Given the description of an element on the screen output the (x, y) to click on. 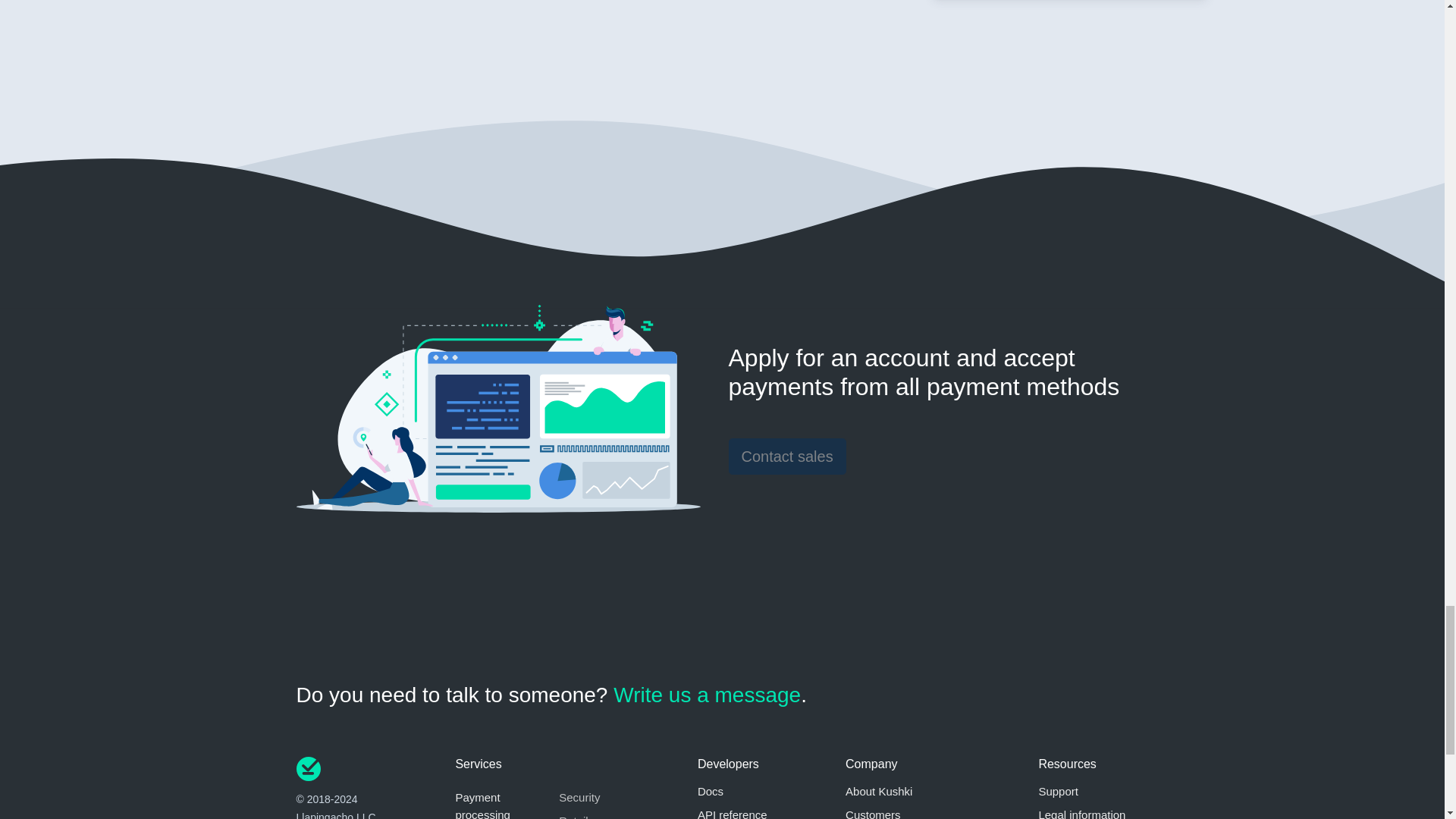
Contact sales (786, 456)
